Given the description of an element on the screen output the (x, y) to click on. 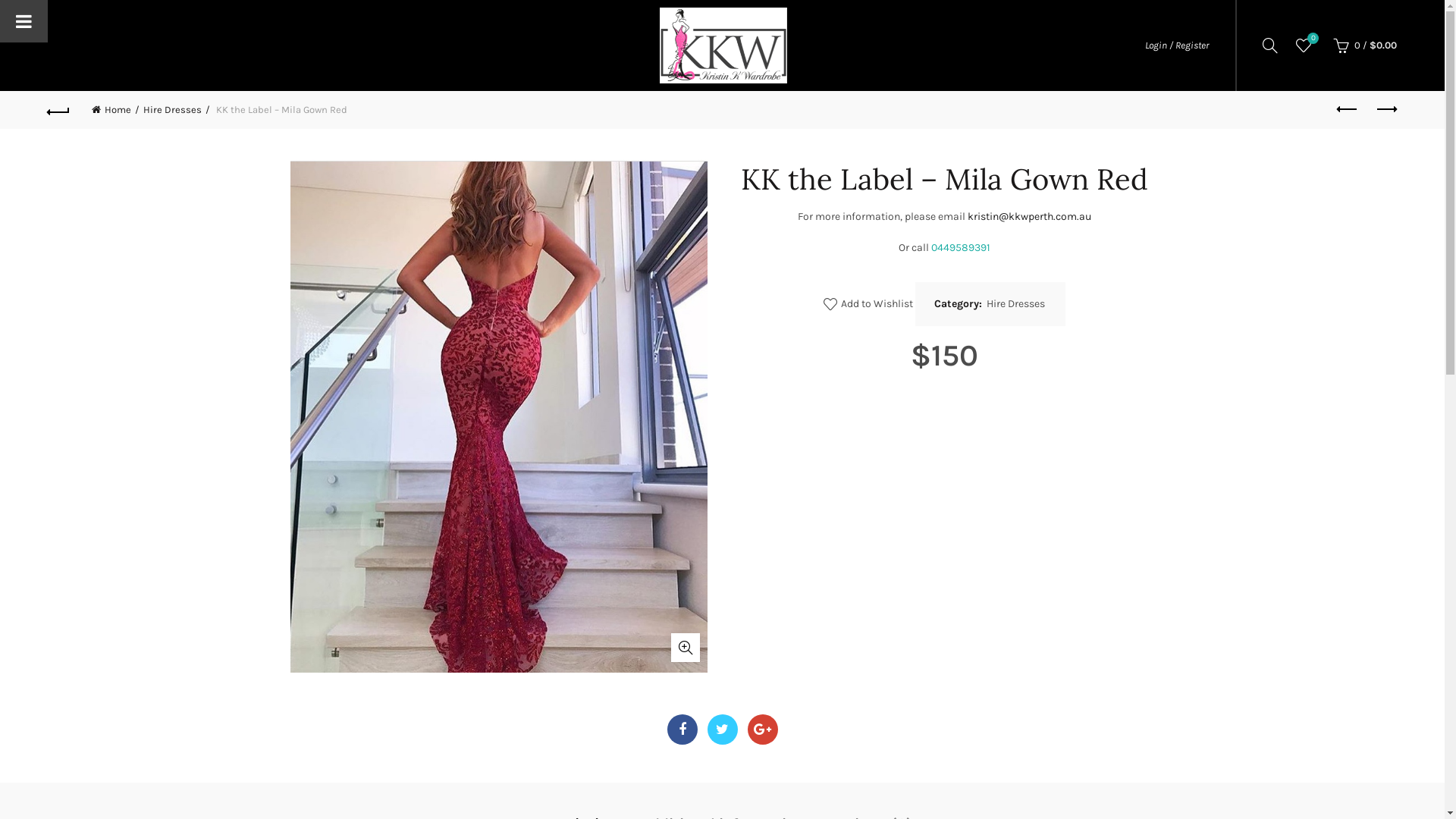
Back Element type: text (59, 109)
Google Element type: text (762, 729)
Home Element type: text (115, 109)
Add to Wishlist Element type: text (868, 304)
0 / $0.00 Element type: text (1362, 45)
Facebook Element type: text (682, 729)
Hire Dresses Element type: text (176, 109)
Wishlist
0 Element type: text (1303, 45)
Previous product Element type: text (1347, 109)
Twitter Element type: text (721, 729)
Hire Dresses Element type: text (1014, 303)
kristin@kkwperth.com.au Element type: text (1029, 216)
47226340-601E-4D7D-B060-893178FAD881 Element type: hover (497, 415)
Login / Register Element type: text (1176, 44)
0449589391 Element type: text (960, 247)
navigation menu here Element type: text (330, 43)
Click to enlarge Element type: text (684, 647)
Next product Element type: text (1385, 109)
